Given the description of an element on the screen output the (x, y) to click on. 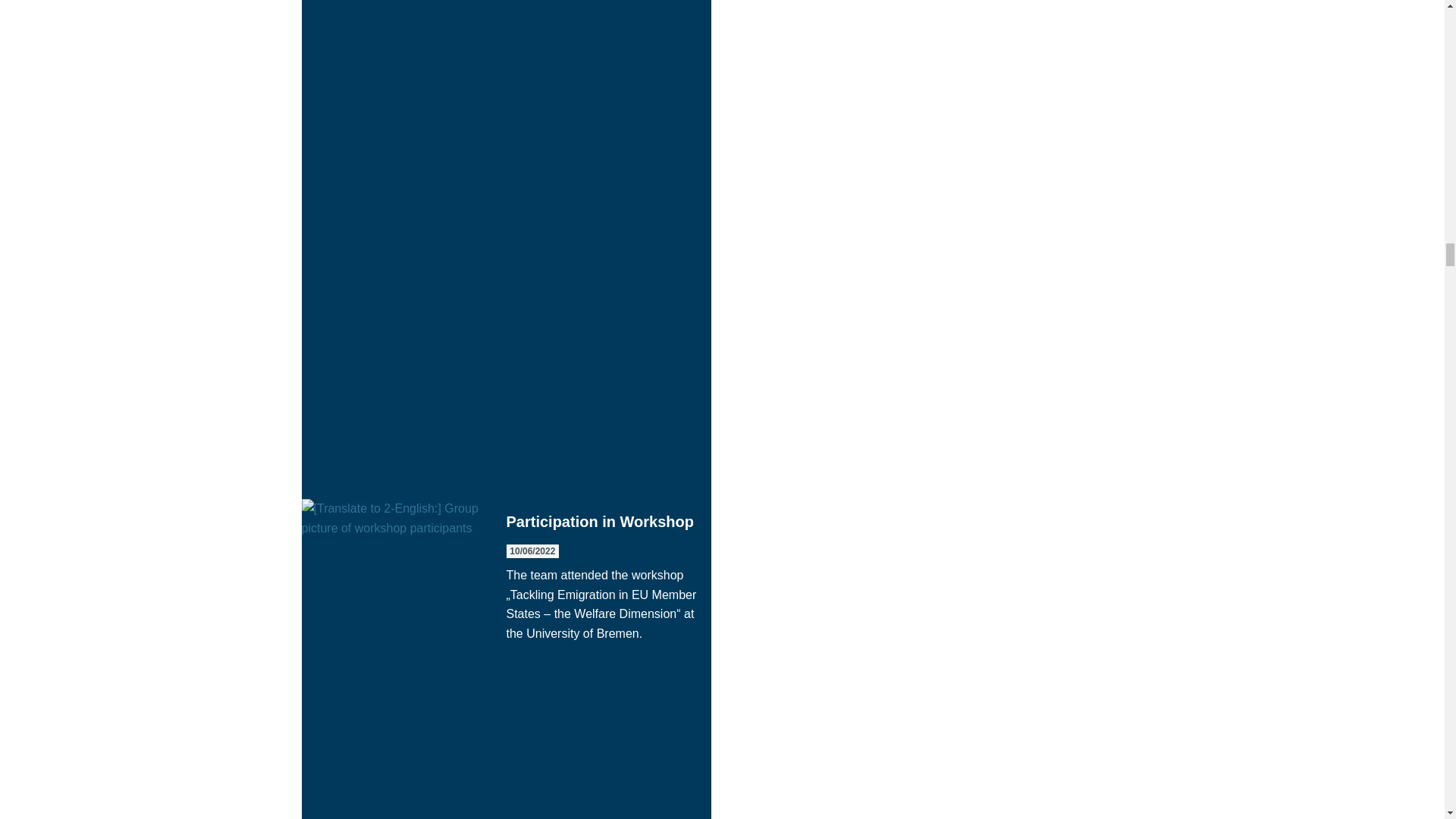
Participation in Workshop  (506, 658)
